Given the description of an element on the screen output the (x, y) to click on. 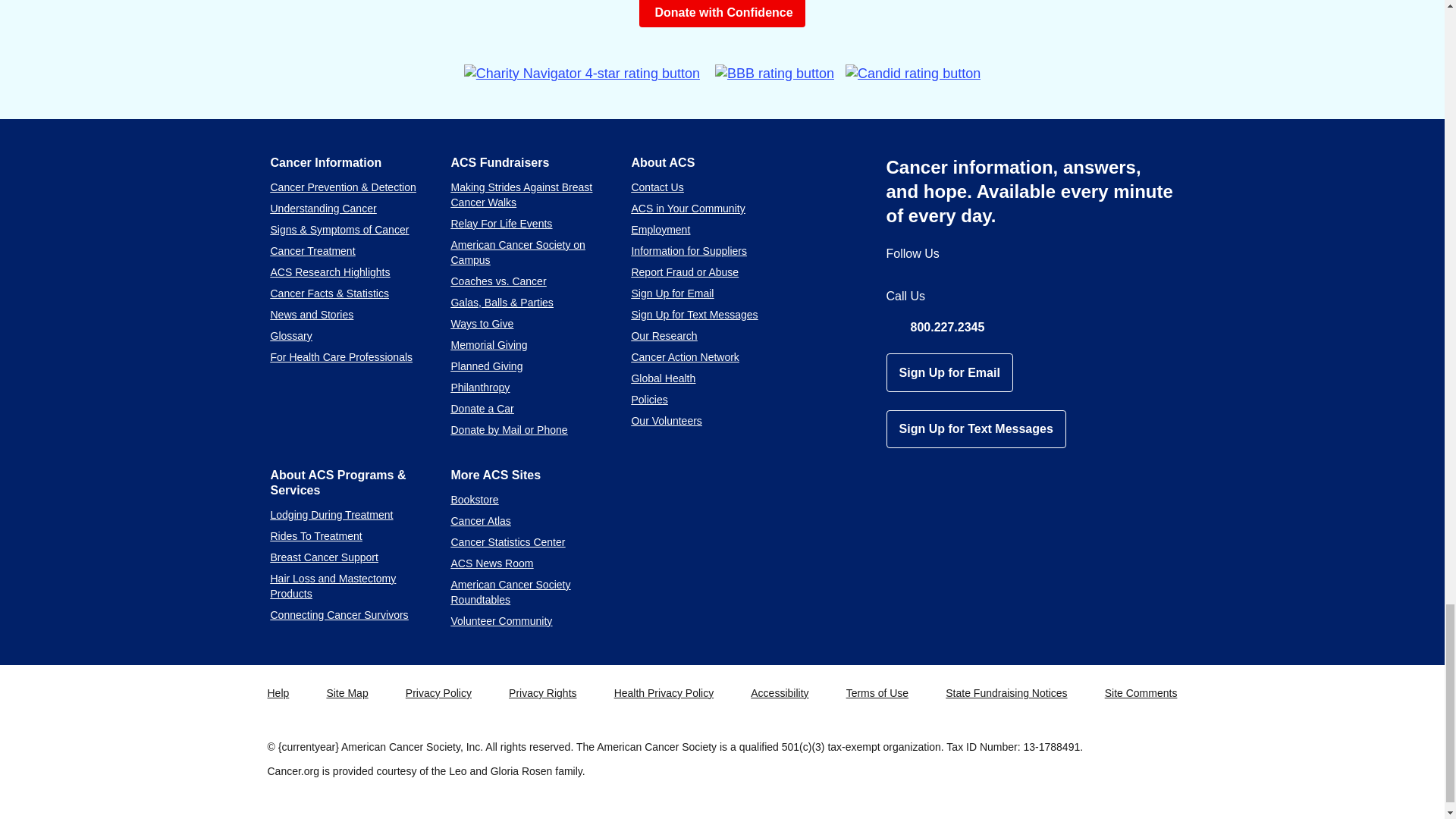
Understanding Cancer (322, 208)
ACS Research Highlights (329, 272)
Cancer Treatment (312, 250)
